Given the description of an element on the screen output the (x, y) to click on. 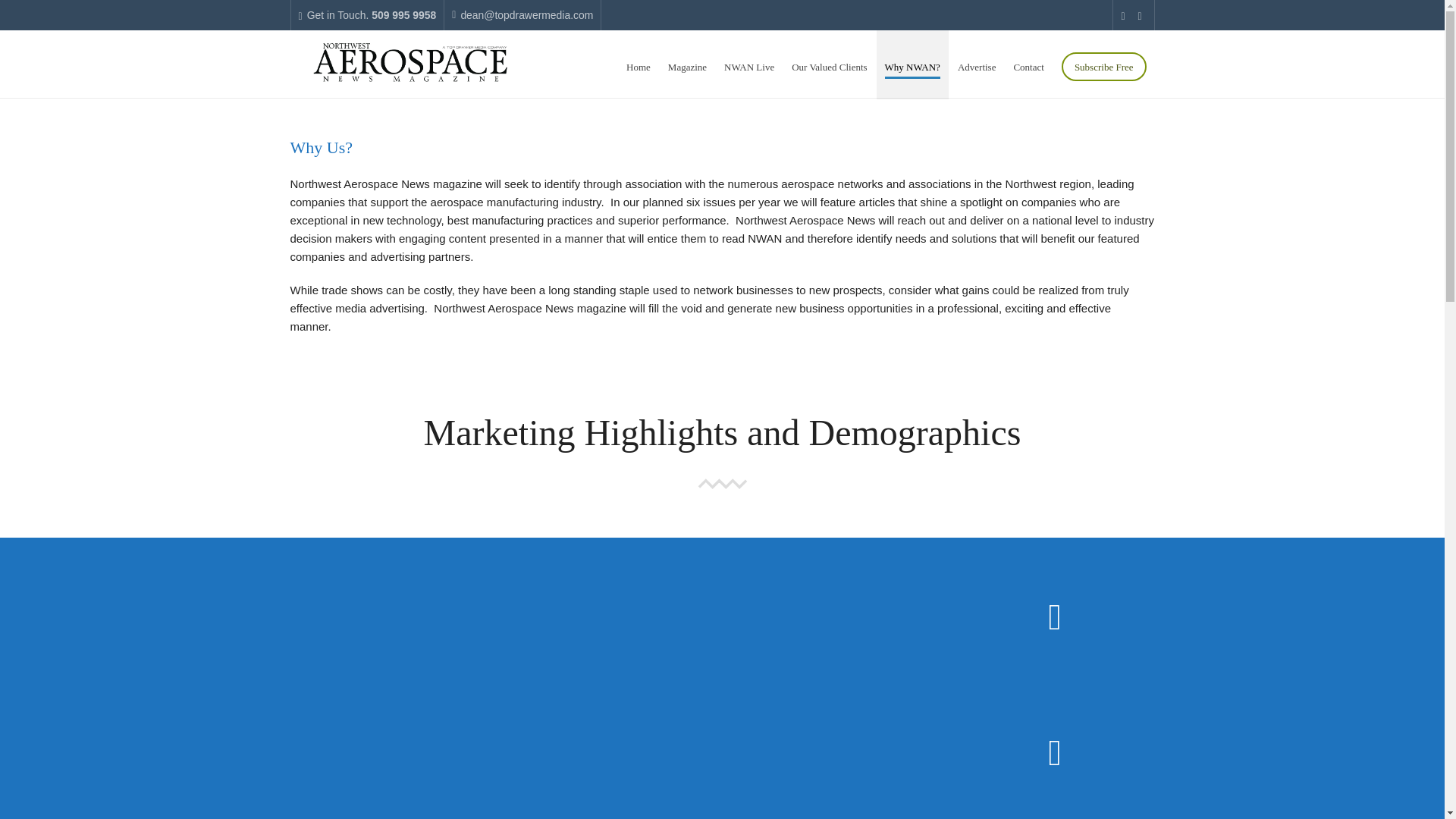
Why NWAN? (912, 64)
NWAN Live (749, 64)
Our Valued Clients (829, 64)
